Given the description of an element on the screen output the (x, y) to click on. 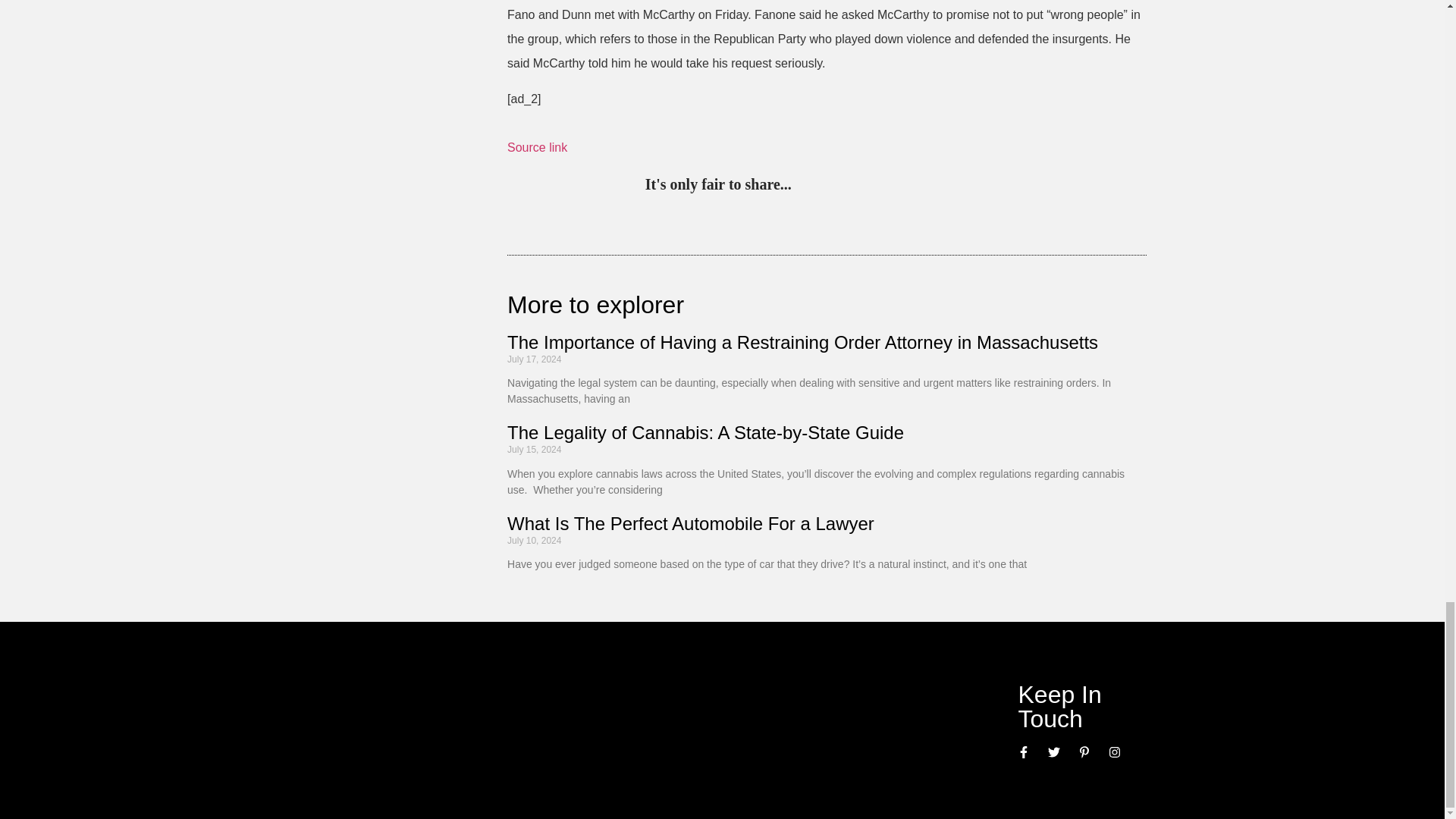
pinterest (807, 185)
google (900, 185)
What Is The Perfect Automobile For a Lawyer (690, 523)
The Legality of Cannabis: A State-by-State Guide (705, 432)
facebook (931, 185)
Source link (536, 146)
print (993, 185)
linkedin (869, 185)
twitter (837, 185)
email (962, 185)
